Given the description of an element on the screen output the (x, y) to click on. 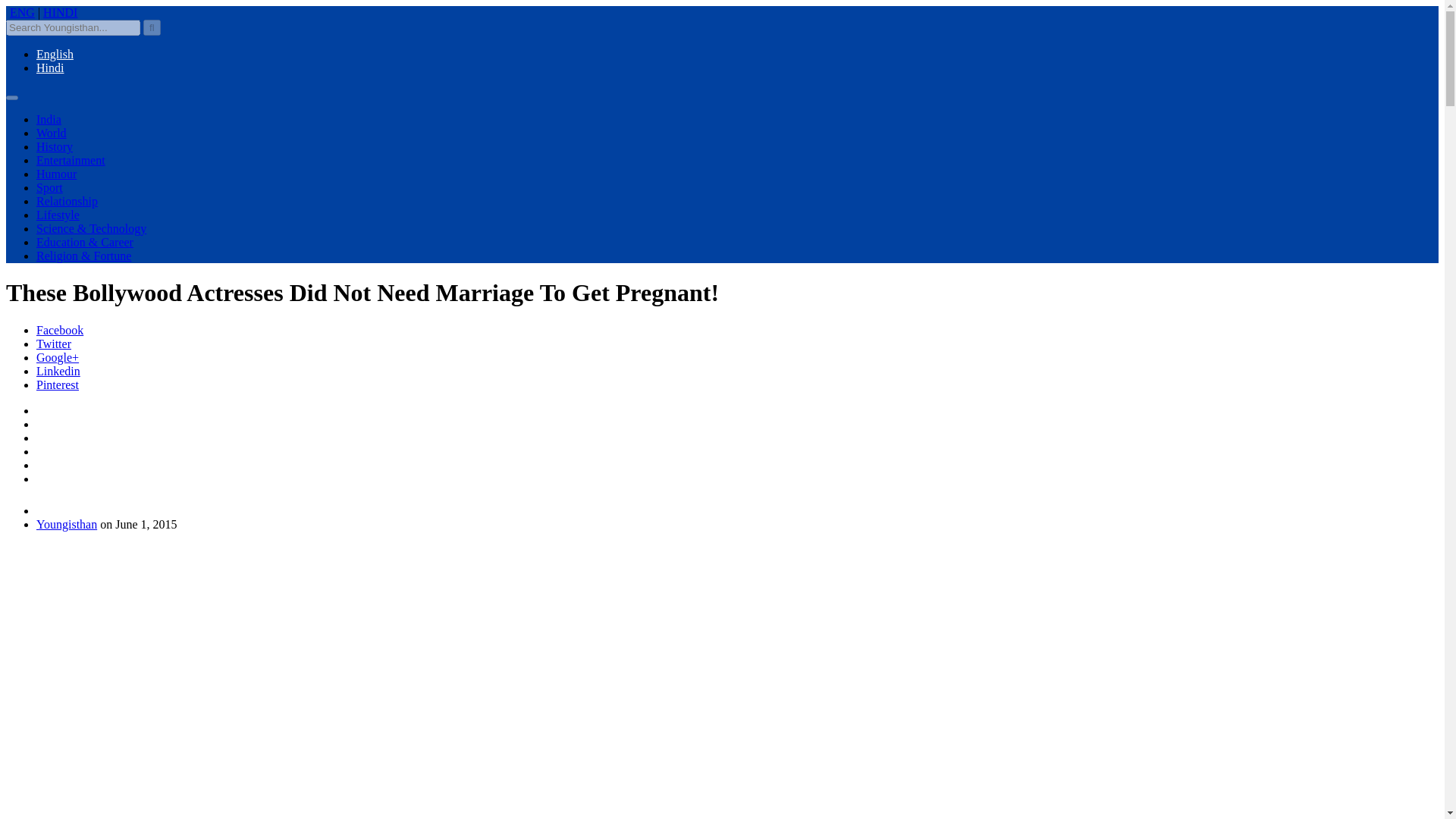
Lifestyle (58, 214)
Linkedin (58, 370)
HINDI (60, 11)
Humour (56, 173)
ENG (22, 11)
Pinterest (57, 384)
Entertainment (70, 160)
Twitter (53, 343)
World (51, 132)
Sport (49, 187)
India (48, 119)
History (54, 146)
Relationship (66, 201)
Facebook (59, 329)
Youngisthan (66, 523)
